Given the description of an element on the screen output the (x, y) to click on. 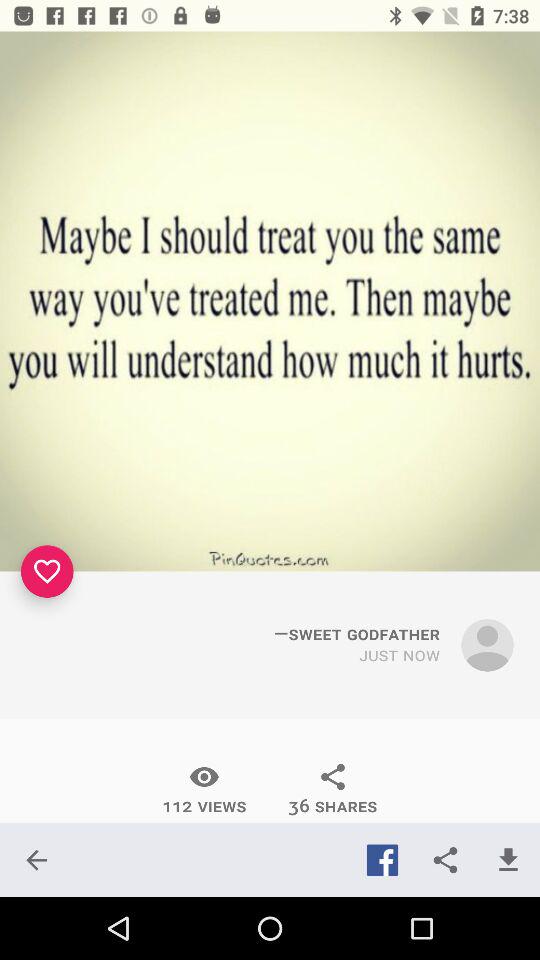
tap the icon above just now icon (357, 629)
